Given the description of an element on the screen output the (x, y) to click on. 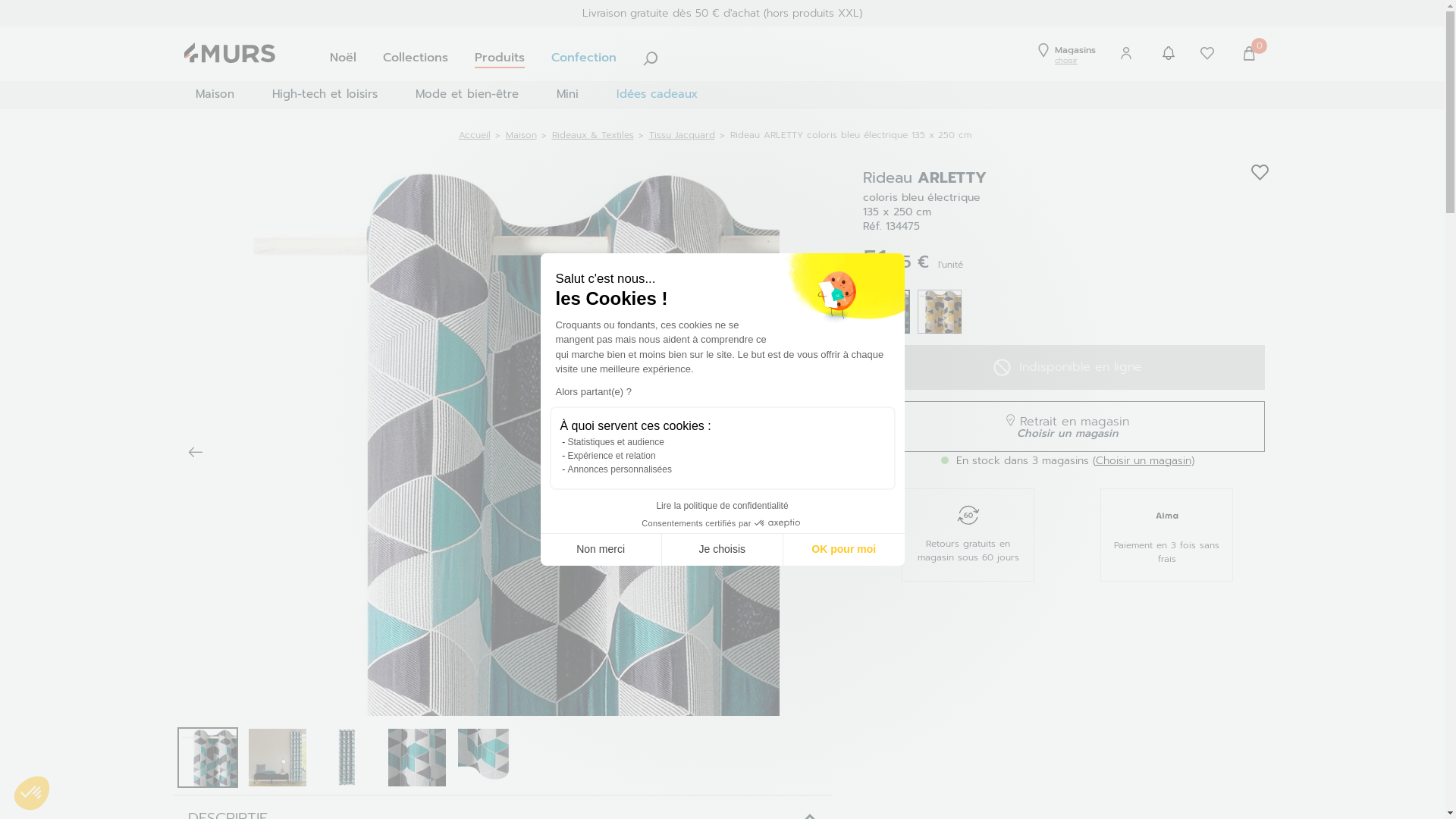
Confection Element type: text (583, 58)
Je choisis Element type: text (722, 549)
Magasins Element type: text (1065, 49)
Tissu Jacquard Element type: text (682, 134)
Retrait en magasin
Choisir un magasin Element type: text (1067, 425)
Rideaux & Textiles Element type: text (592, 134)
Accueil Element type: text (473, 134)
Maison Element type: text (520, 134)
Mini Element type: text (566, 94)
Indisponible en ligne Element type: text (1067, 366)
moutarde Element type: hover (939, 311)
OK pour moi Element type: text (843, 549)
Se connecter Element type: text (1127, 121)
Non merci Element type: text (600, 549)
En stock dans 3 magasins (Choisir un magasin) Element type: text (1066, 460)
choisir Element type: text (1066, 60)
Collections Element type: text (415, 58)
High-tech et loisirs Element type: text (324, 94)
Maison Element type: text (213, 94)
0 Element type: text (1250, 56)
Statistiques et audience Element type: text (615, 441)
